Given the description of an element on the screen output the (x, y) to click on. 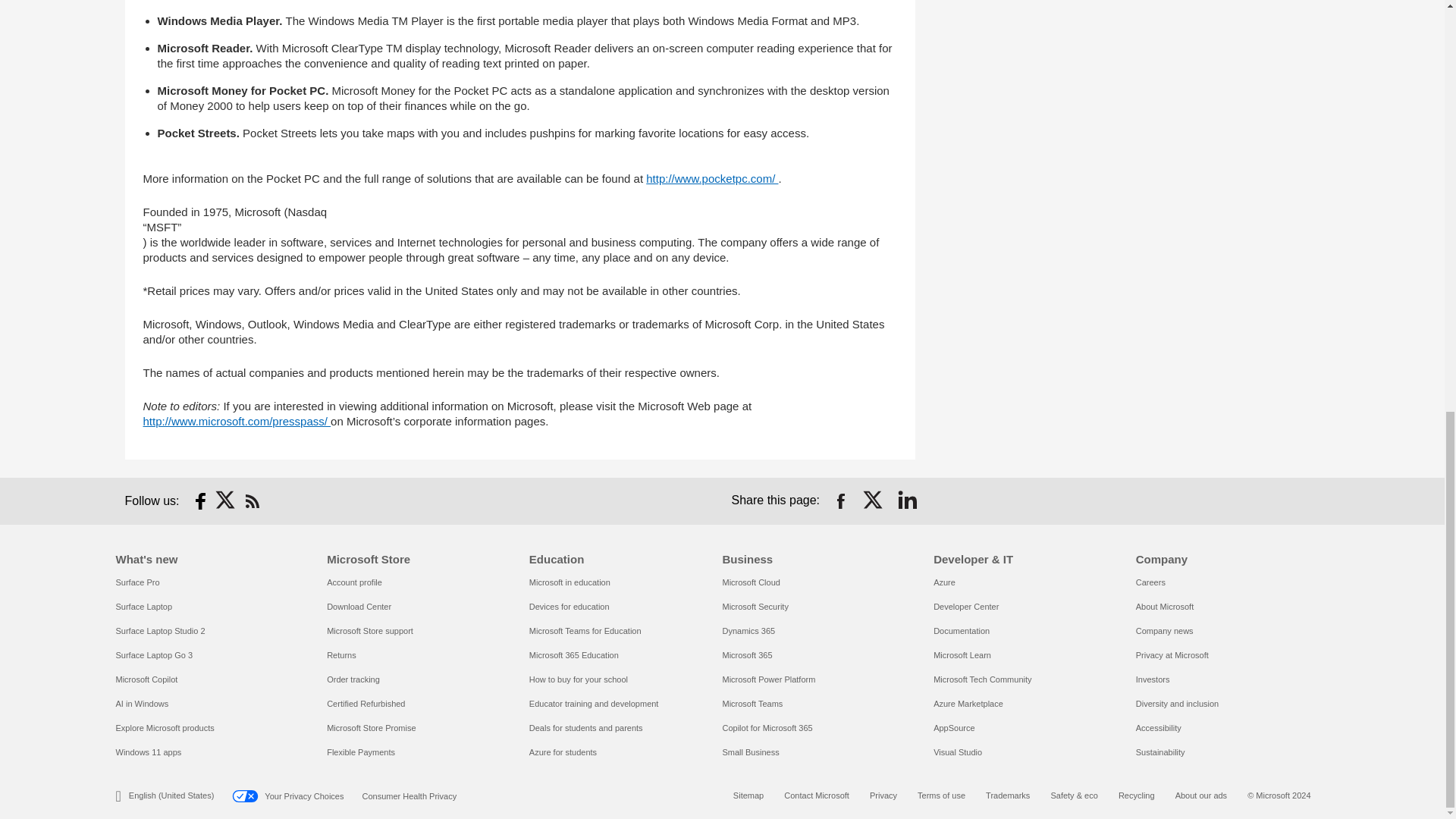
Share on Twitter (873, 500)
Follow on Facebook (200, 500)
Follow on Twitter (226, 500)
RSS Subscription (252, 500)
Share on Facebook (840, 500)
Share on LinkedIn (907, 500)
